Given the description of an element on the screen output the (x, y) to click on. 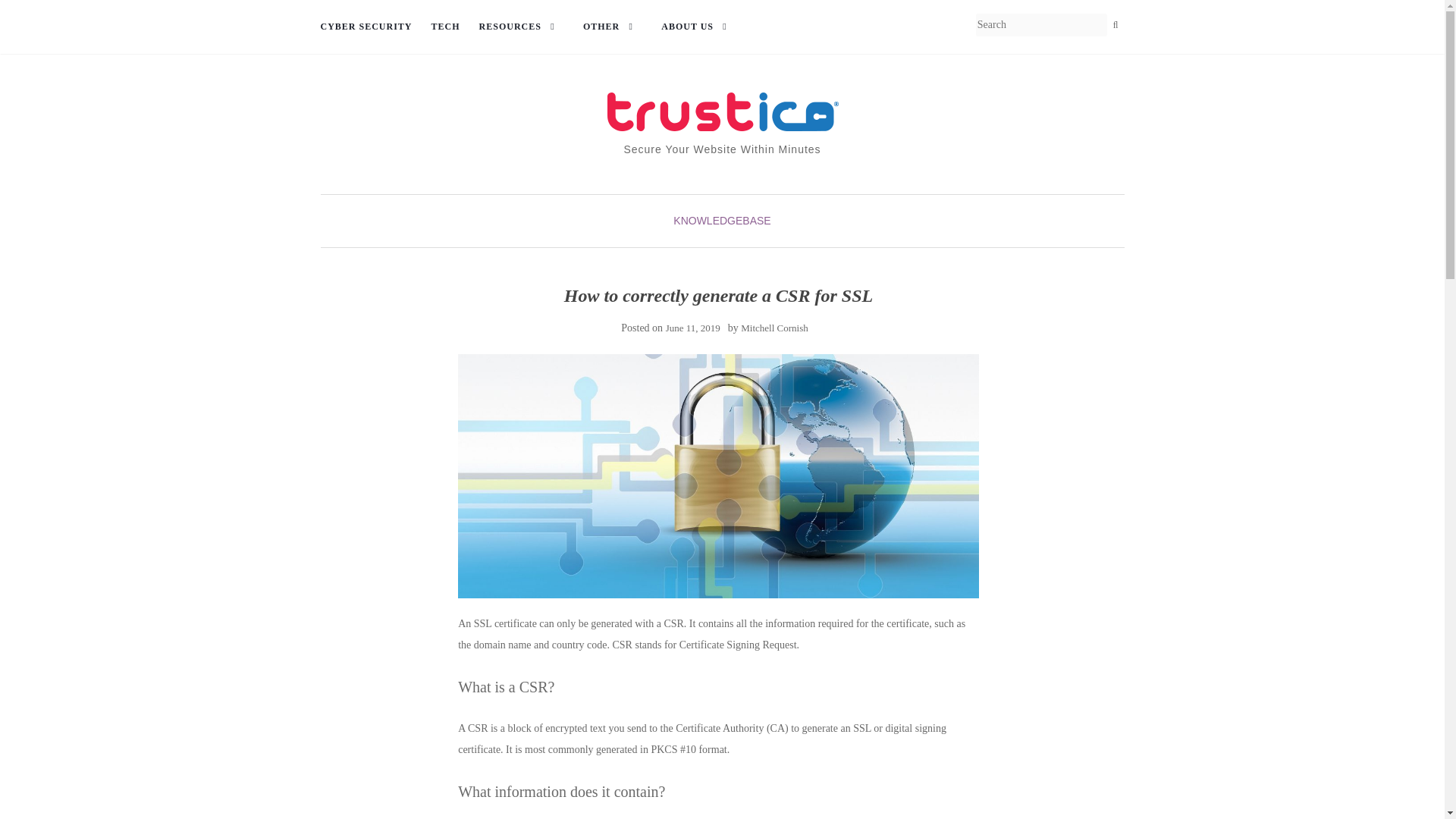
How to correctly generate a CSR for SSL (718, 475)
RESOURCES (521, 27)
Cyber Security (366, 27)
OTHER (612, 27)
KNOWLEDGEBASE (721, 220)
Resources (521, 27)
ABOUT US (698, 27)
June 11, 2019 (692, 327)
About Us (698, 27)
Mitchell Cornish (774, 327)
